Given the description of an element on the screen output the (x, y) to click on. 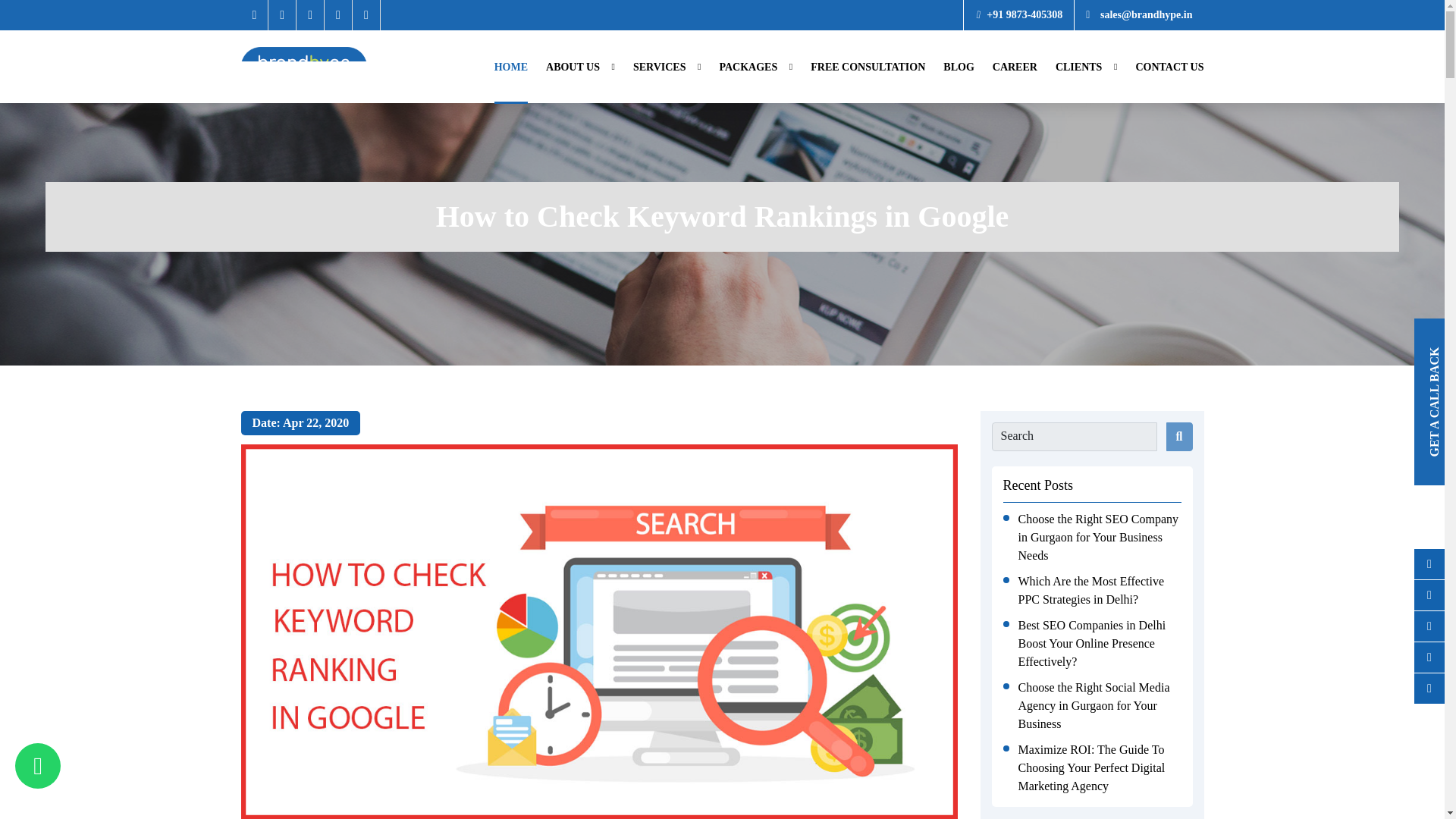
Brandhype (303, 66)
SERVICES (667, 67)
ABOUT US (580, 67)
